Given the description of an element on the screen output the (x, y) to click on. 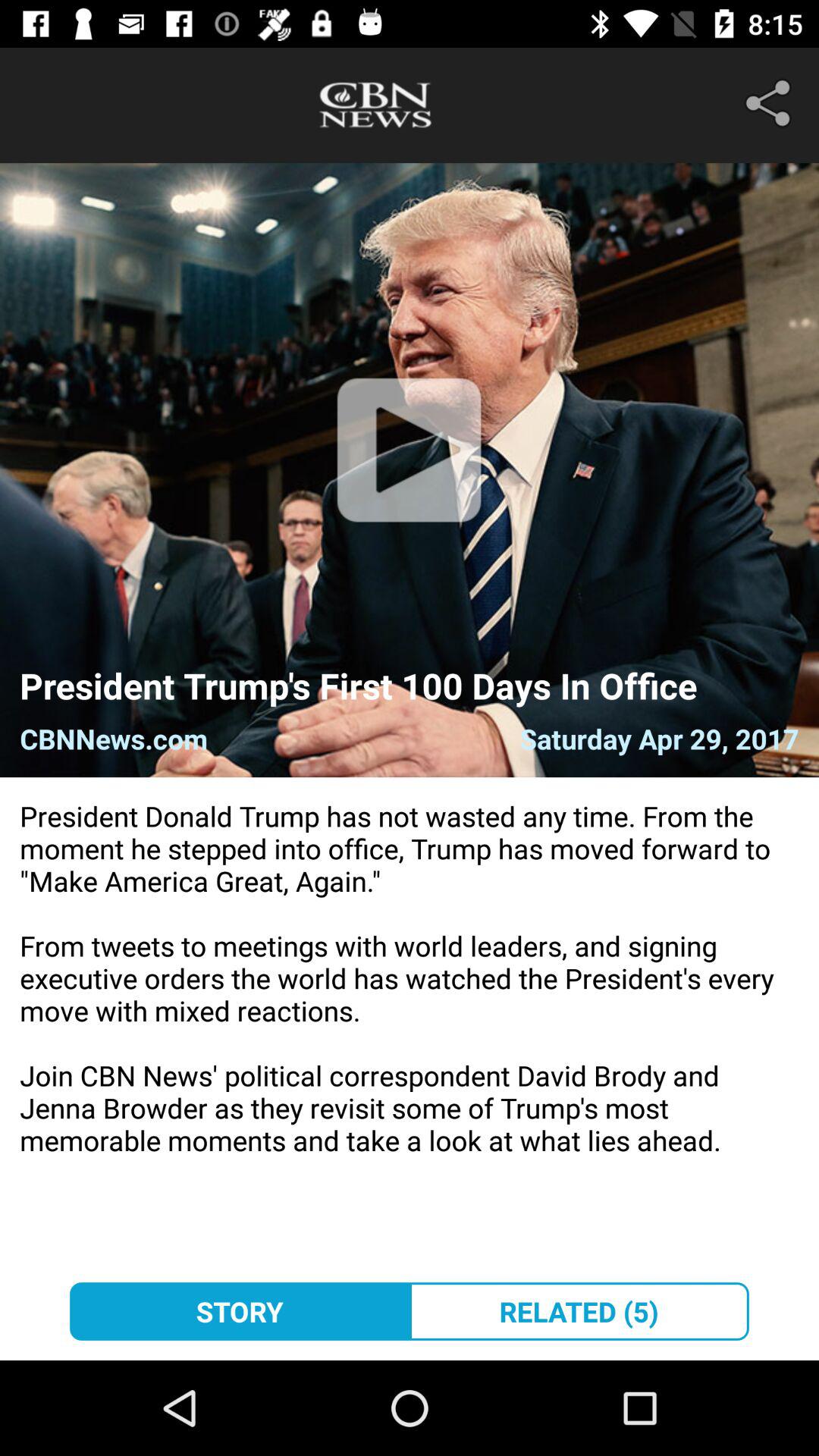
turn on item to the left of the related (5) (239, 1311)
